Given the description of an element on the screen output the (x, y) to click on. 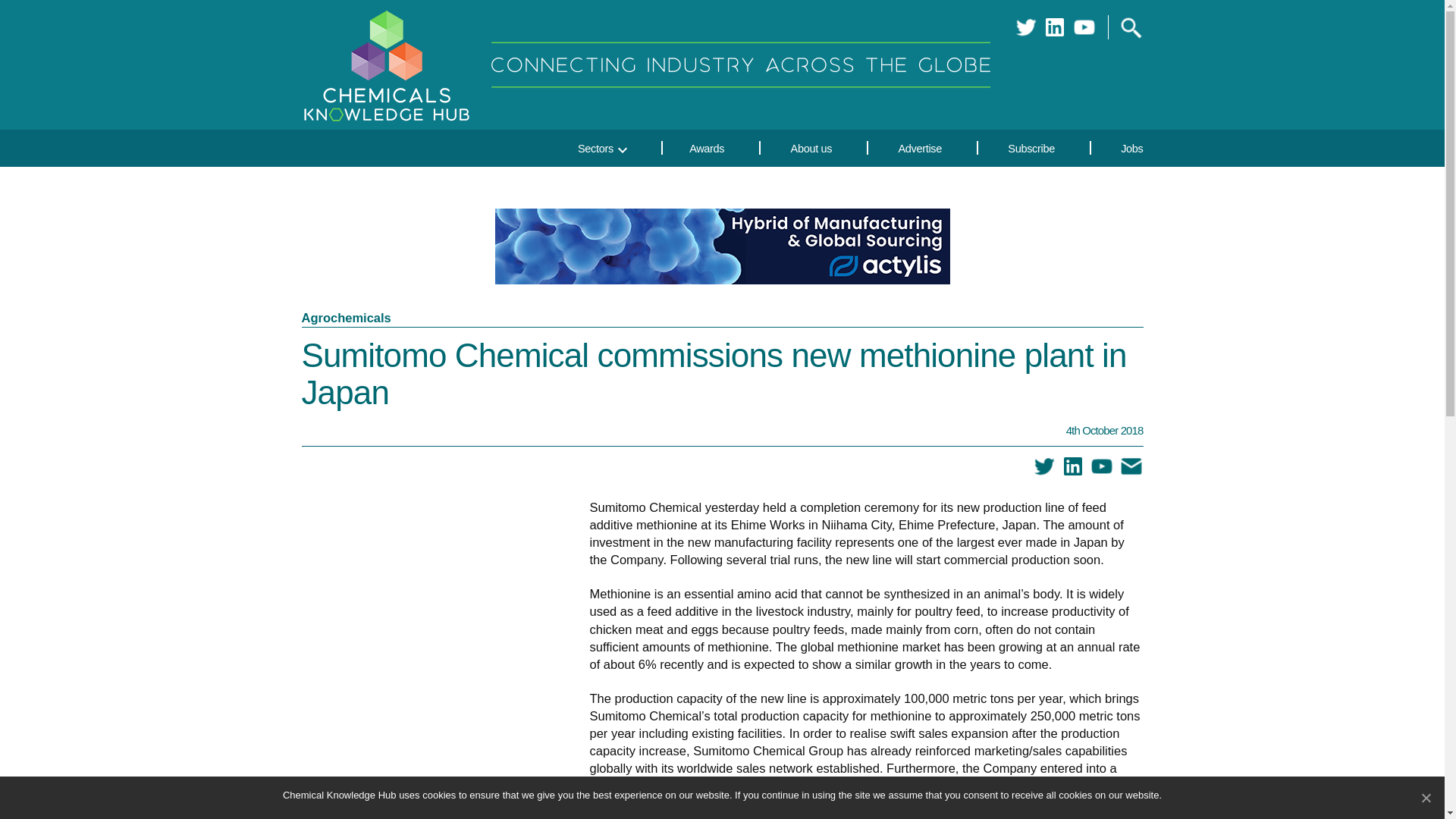
email (1130, 466)
youtube (1101, 466)
youtube (1083, 27)
Awards (706, 147)
Advertise (920, 147)
linkedin (1072, 466)
Linkedin (1054, 27)
Sectors (581, 147)
twitter (1044, 466)
Subscribe (1031, 147)
twitter (1025, 27)
Jobs (1118, 147)
About us (811, 147)
